Given the description of an element on the screen output the (x, y) to click on. 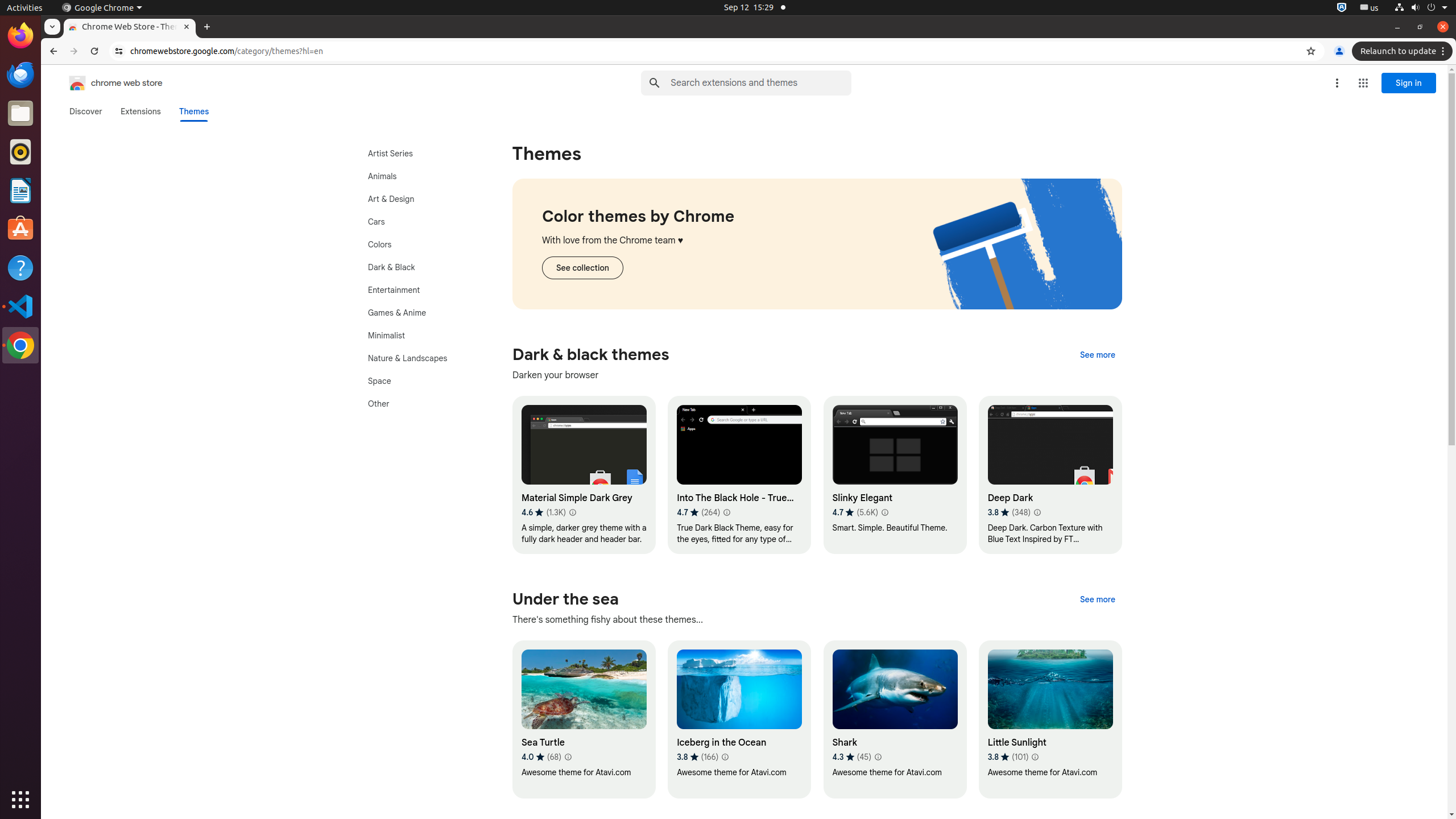
Deep Dark Element type: link (1050, 474)
Animals Element type: menu-item (419, 175)
Back Element type: push-button (51, 50)
Learn more about results and reviews "Deep Dark" Element type: push-button (1036, 512)
LibreOffice Writer Element type: push-button (20, 190)
